Given the description of an element on the screen output the (x, y) to click on. 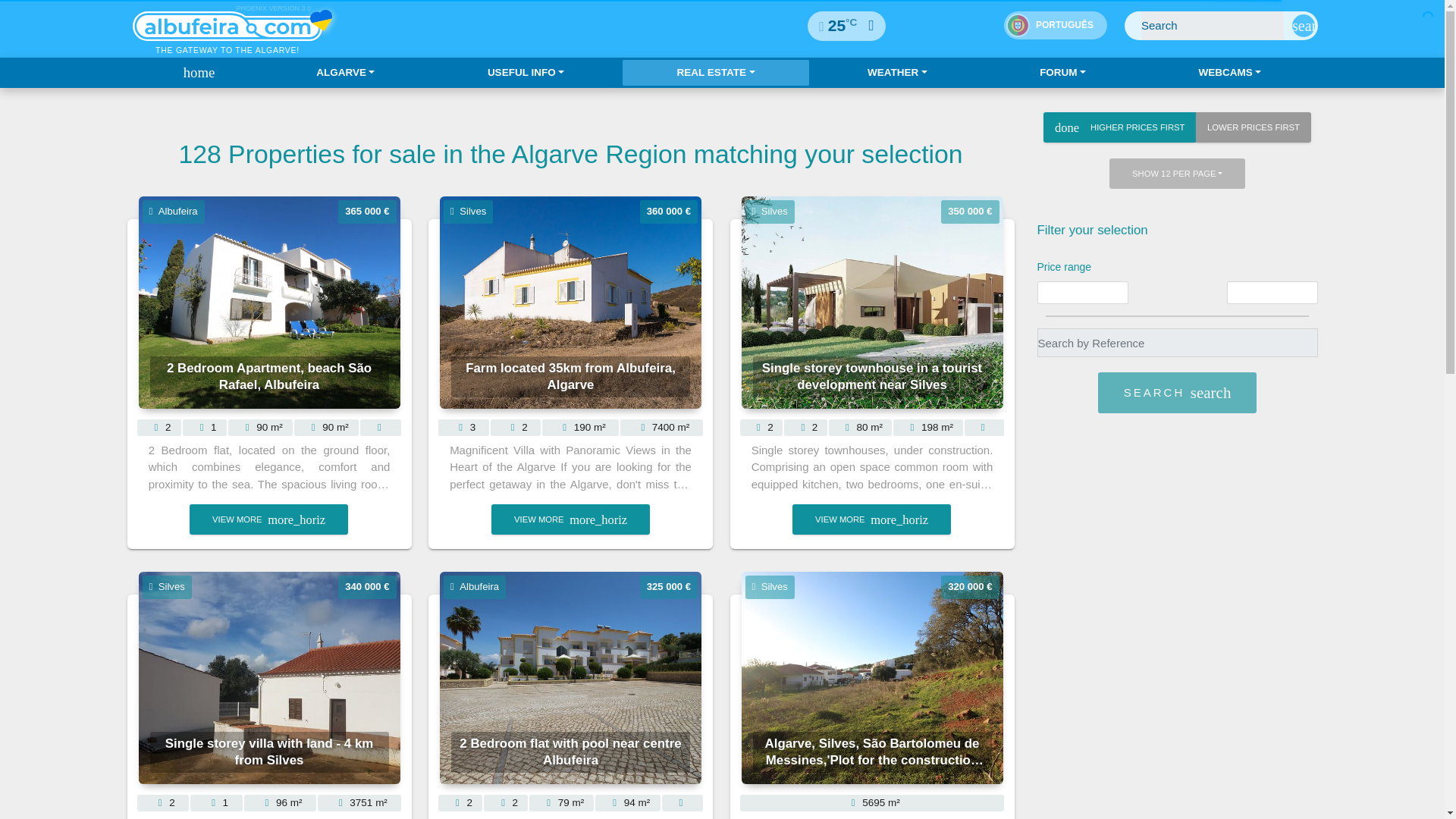
Land area (927, 427)
Land area (326, 427)
Bedroom (158, 427)
ALGARVE (345, 72)
Built area (579, 427)
USEFUL INFO (525, 72)
SHOW 12 PER PAGE (1176, 173)
WEATHER (897, 72)
doneHIGHER PRICES FIRST (1119, 127)
home (193, 72)
